Given the description of an element on the screen output the (x, y) to click on. 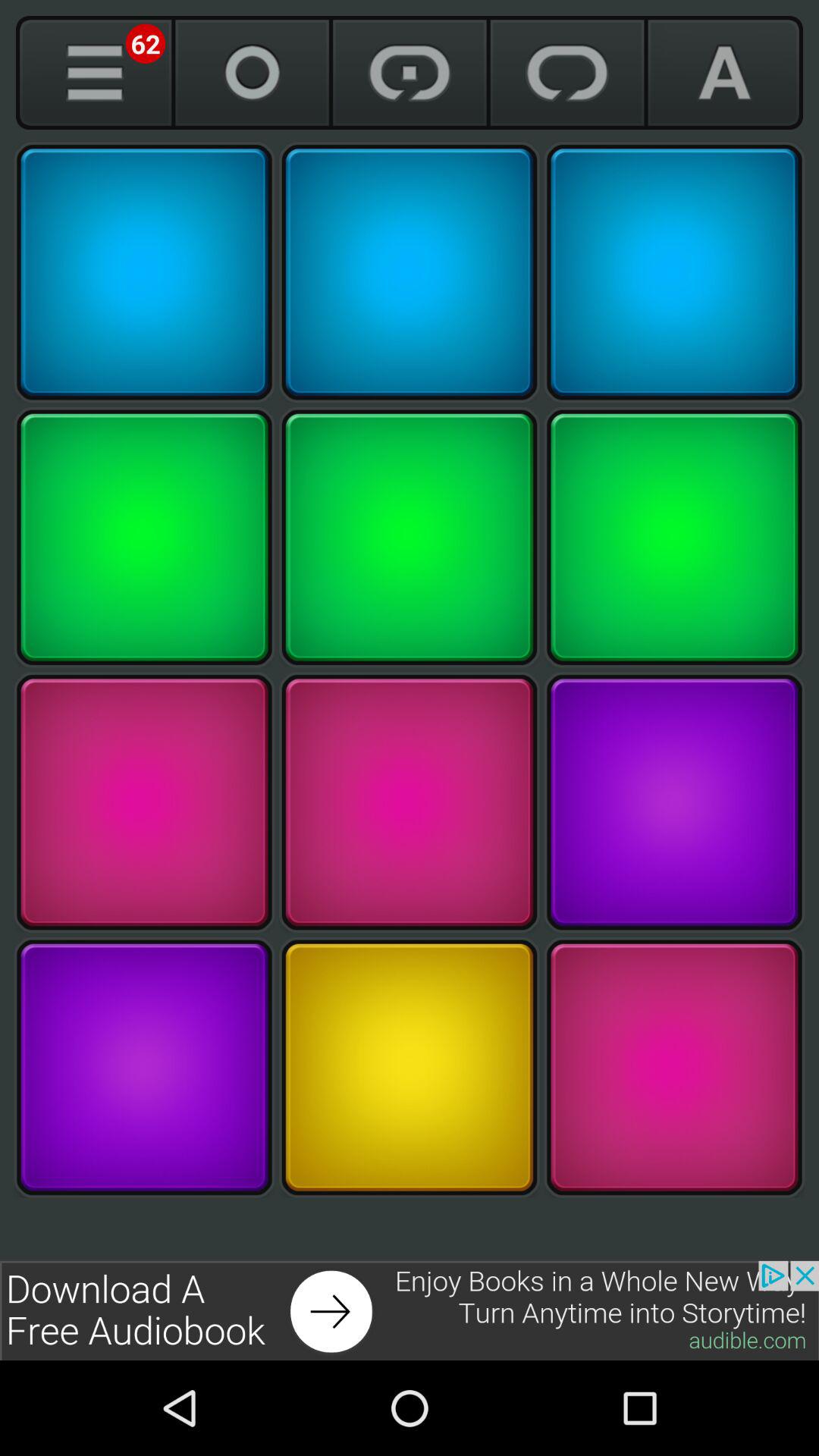
this is join website (409, 1310)
